Given the description of an element on the screen output the (x, y) to click on. 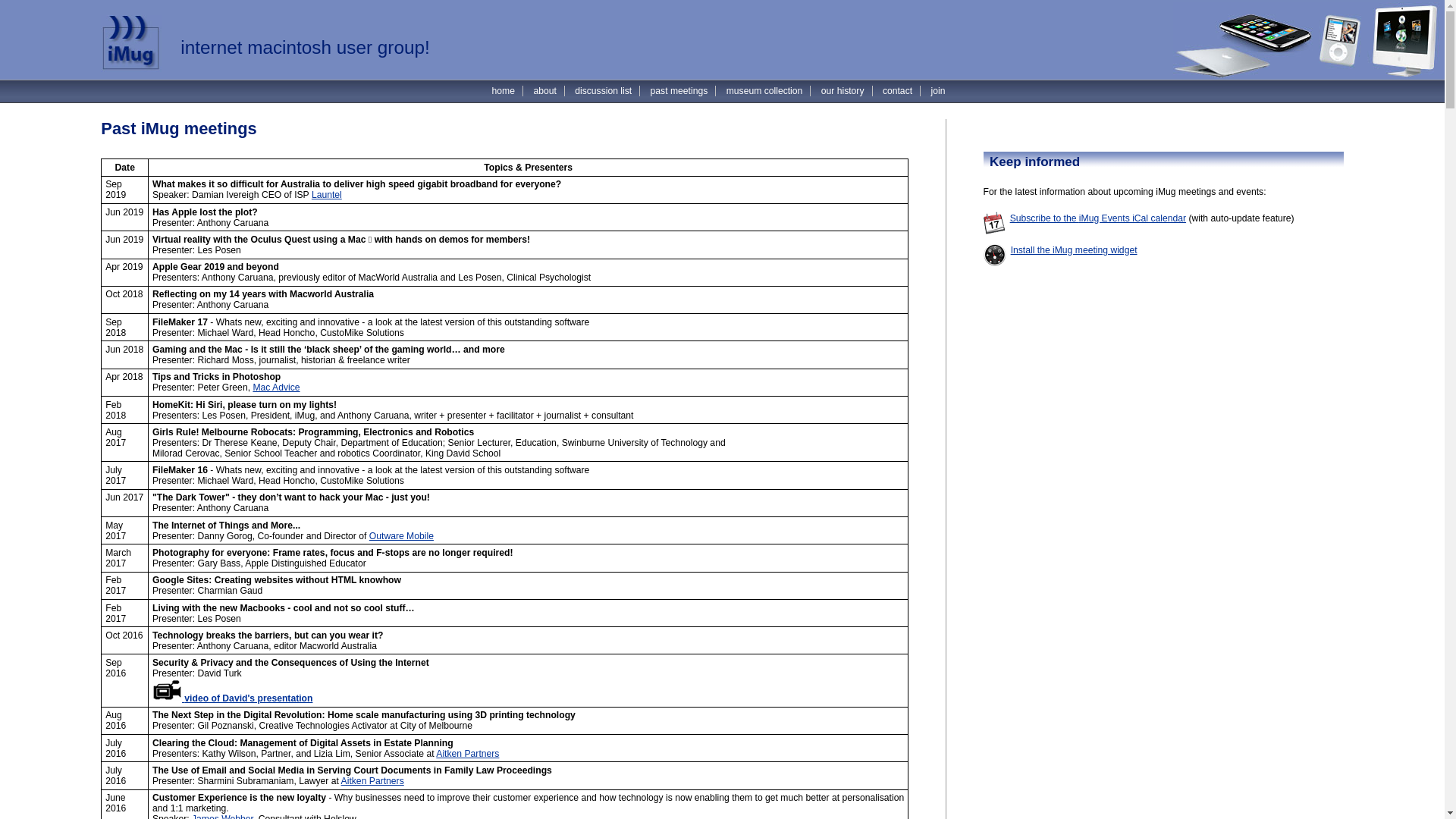
Outware Mobile Element type: text (401, 535)
Internet Macintosh User Group Element type: hover (130, 43)
Aitken Partners Element type: text (467, 753)
contact Element type: text (897, 90)
Mac Advice Element type: text (275, 387)
discussion list Element type: text (602, 90)
join Element type: text (937, 90)
video of David's presentation Element type: text (232, 698)
home Element type: text (503, 90)
Aitken Partners Element type: text (372, 780)
past meetings Element type: text (679, 90)
Launtel Element type: text (326, 194)
museum collection Element type: text (764, 90)
about Element type: text (544, 90)
Install the iMug meeting widget Element type: text (1073, 249)
our history Element type: text (842, 90)
Subscribe to the iMug Events iCal calendar Element type: text (1098, 218)
